Given the description of an element on the screen output the (x, y) to click on. 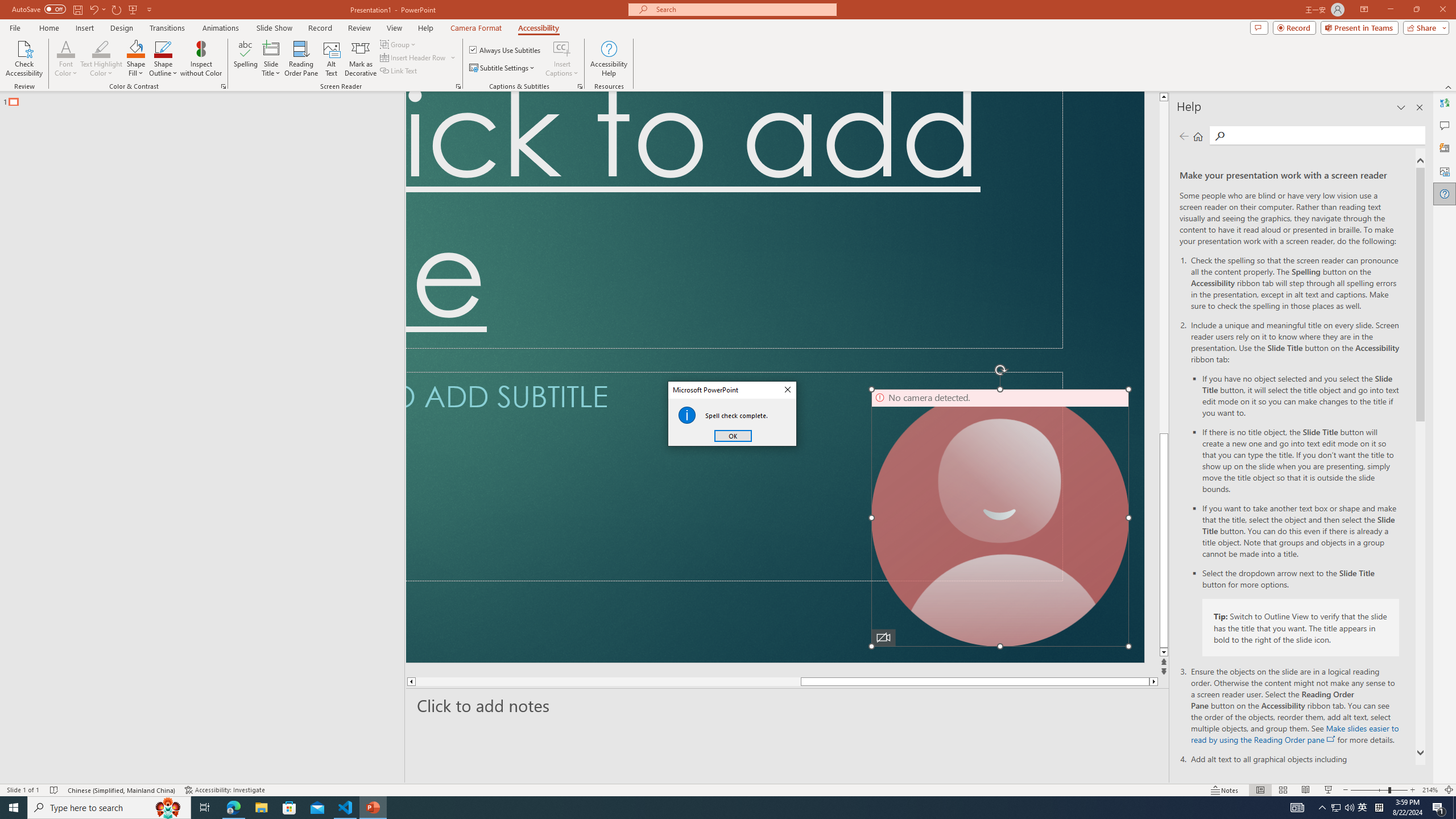
OK (732, 435)
